Given the description of an element on the screen output the (x, y) to click on. 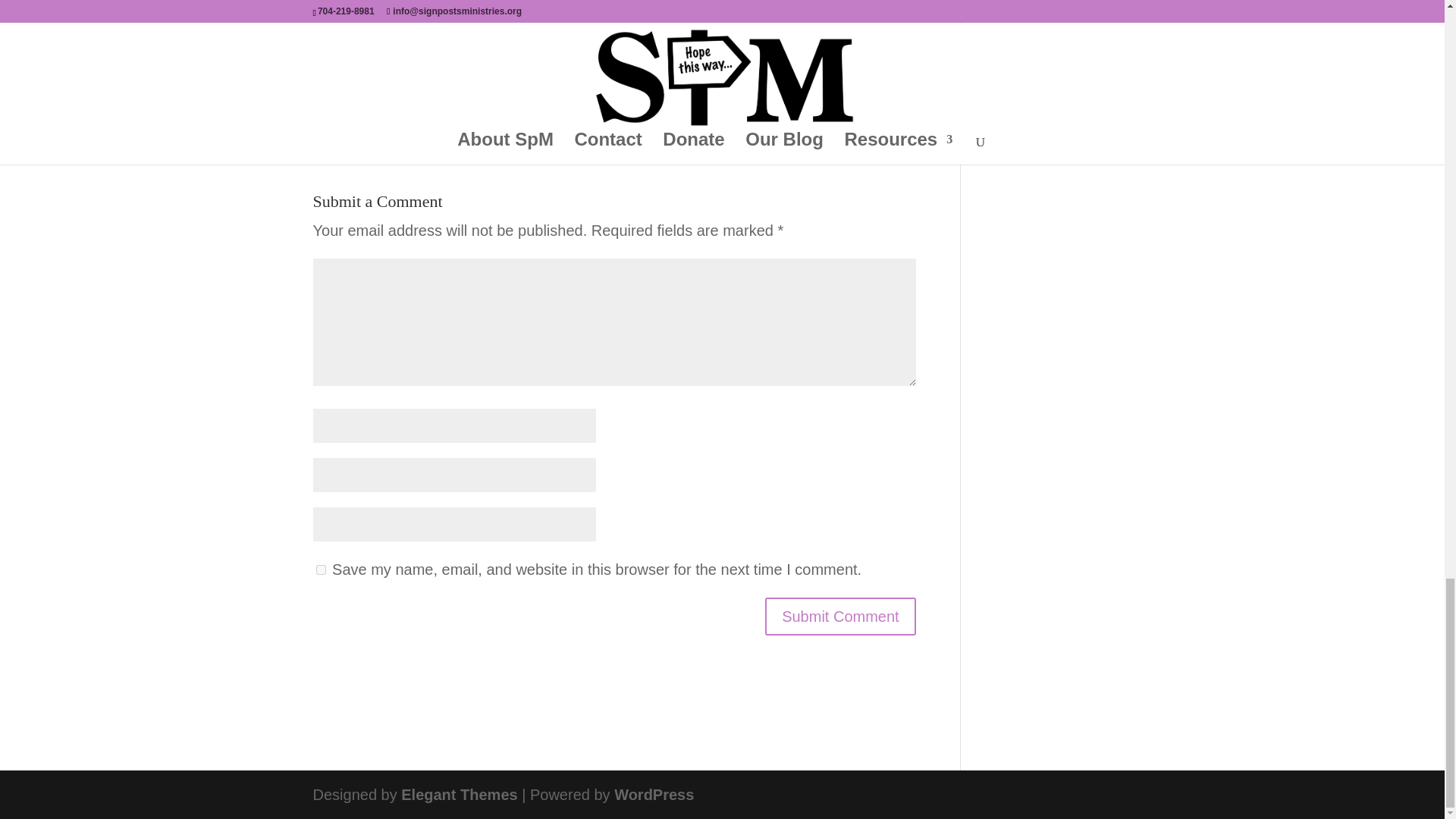
WordPress (654, 794)
Premium WordPress Themes (458, 794)
Submit Comment (840, 616)
Elegant Themes (458, 794)
yes (319, 569)
Submit Comment (840, 616)
